Given the description of an element on the screen output the (x, y) to click on. 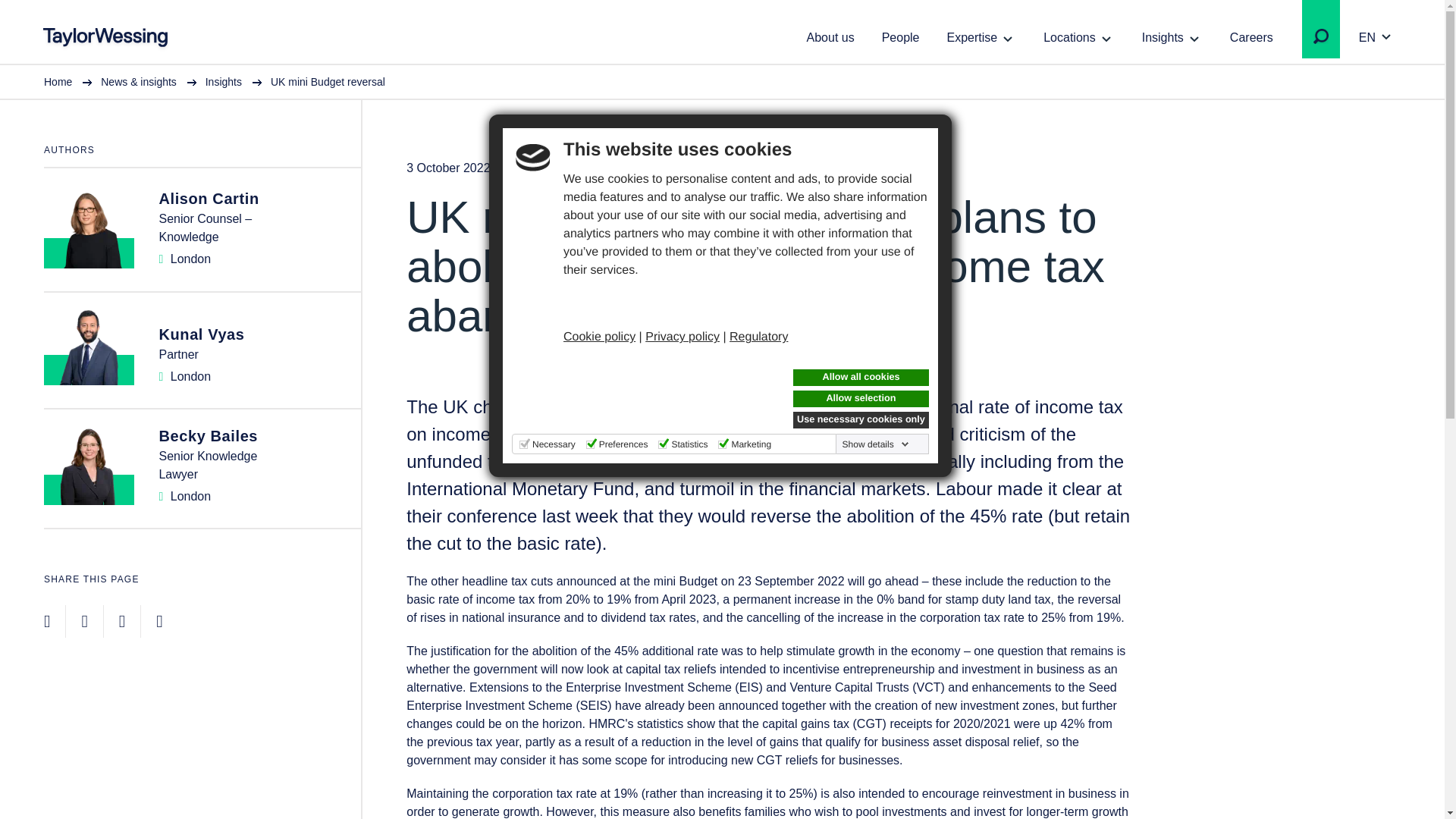
View our cookie policy (598, 336)
Privacy policy (682, 336)
Allow all cookies (860, 377)
View regulatory information (758, 336)
Show details (876, 444)
Allow selection (860, 398)
Cookie policy (598, 336)
Regulatory (758, 336)
Use necessary cookies only (860, 419)
